Given the description of an element on the screen output the (x, y) to click on. 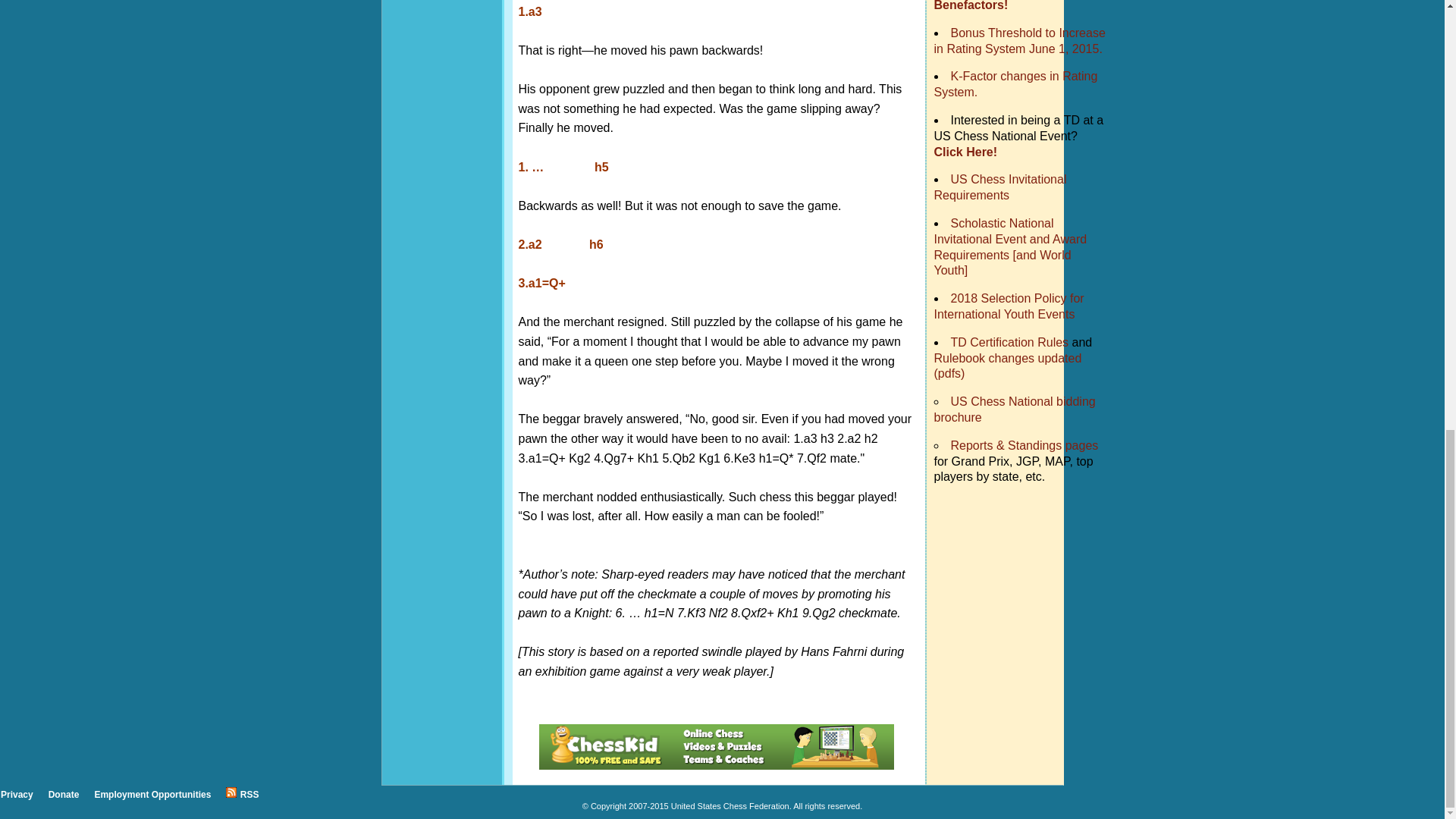
K-Factor changes in Rating System. (1015, 83)
Click Here! (965, 151)
Bonus Threshold to Increase in Rating System June 1, 2015. (1019, 40)
Thanks to our US Chess Benefactors! (1014, 5)
US Chess Invitational Requirements (1000, 186)
